Given the description of an element on the screen output the (x, y) to click on. 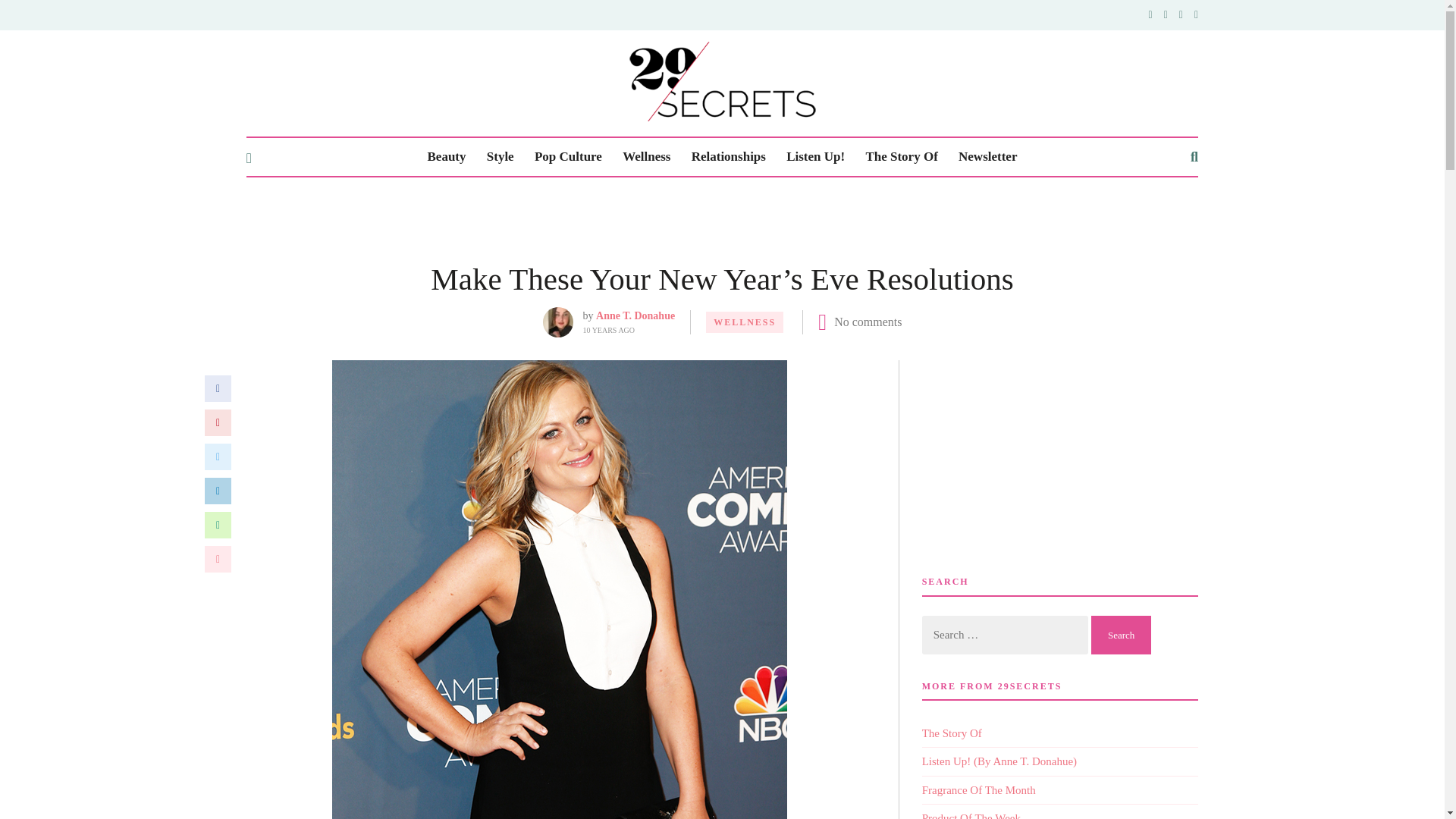
Beauty (446, 157)
29Secrets (721, 81)
Listen Up! (815, 157)
Search (1120, 634)
Relationships (728, 157)
No comments (867, 321)
Newsletter (987, 157)
Anne T. Donahue (635, 315)
WELLNESS (744, 322)
Pop Culture (568, 157)
The Story Of (900, 157)
Wellness (646, 157)
Search (1120, 634)
